Given the description of an element on the screen output the (x, y) to click on. 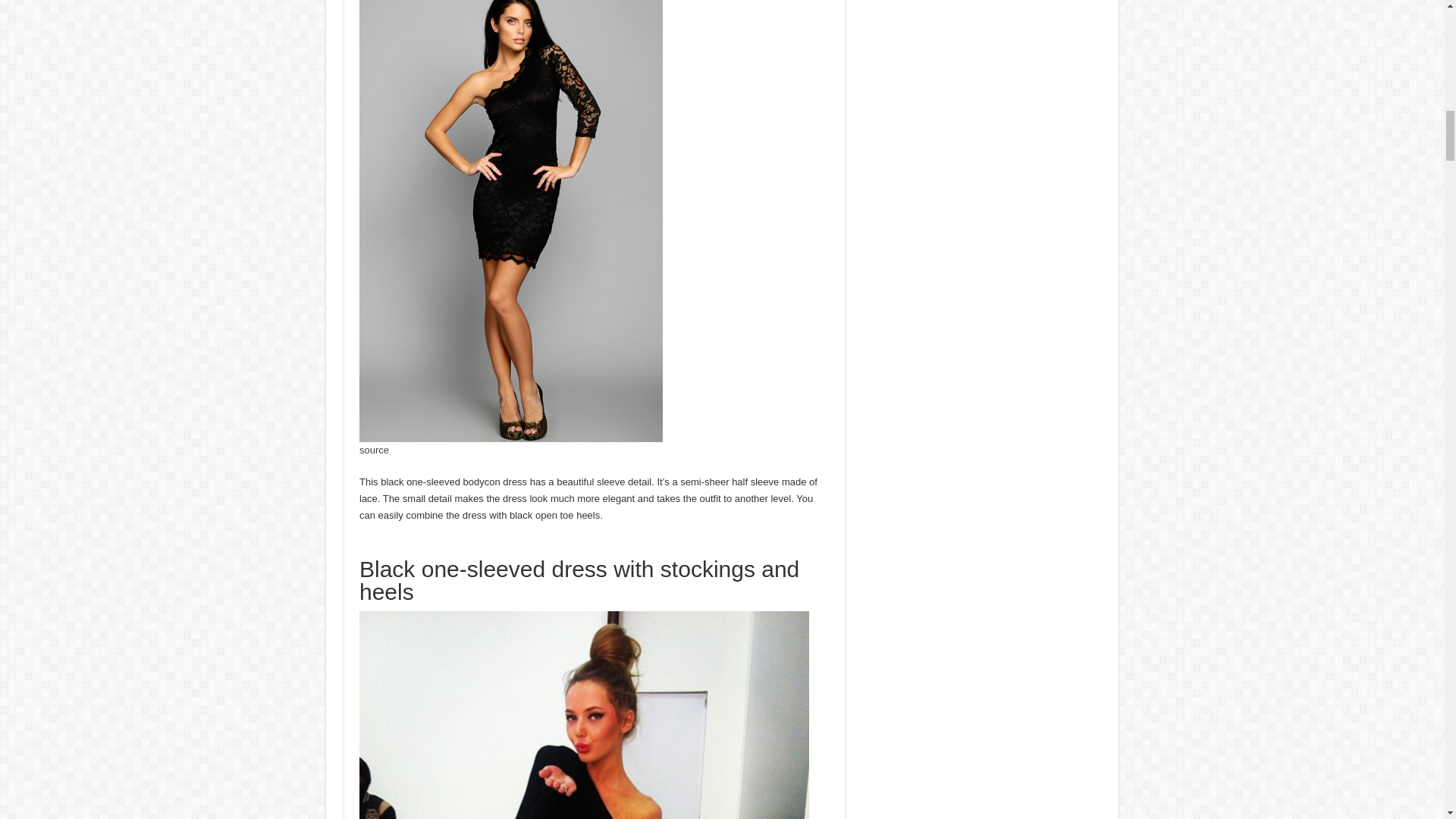
source (373, 449)
